Given the description of an element on the screen output the (x, y) to click on. 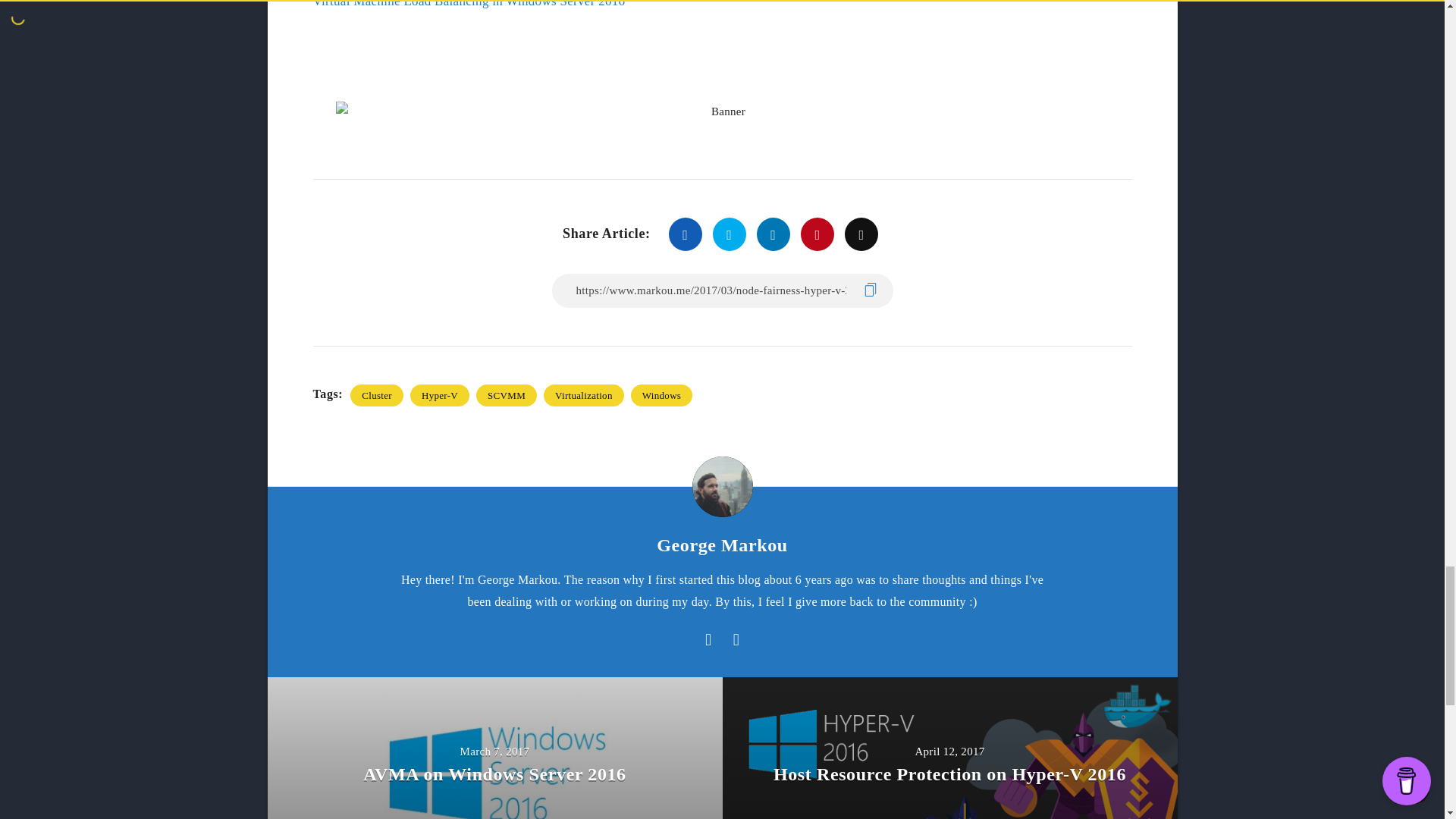
Follow me on Twitter (736, 639)
Virtual Machine Load Balancing in Windows Server 2016 (468, 4)
Cluster (376, 395)
